Given the description of an element on the screen output the (x, y) to click on. 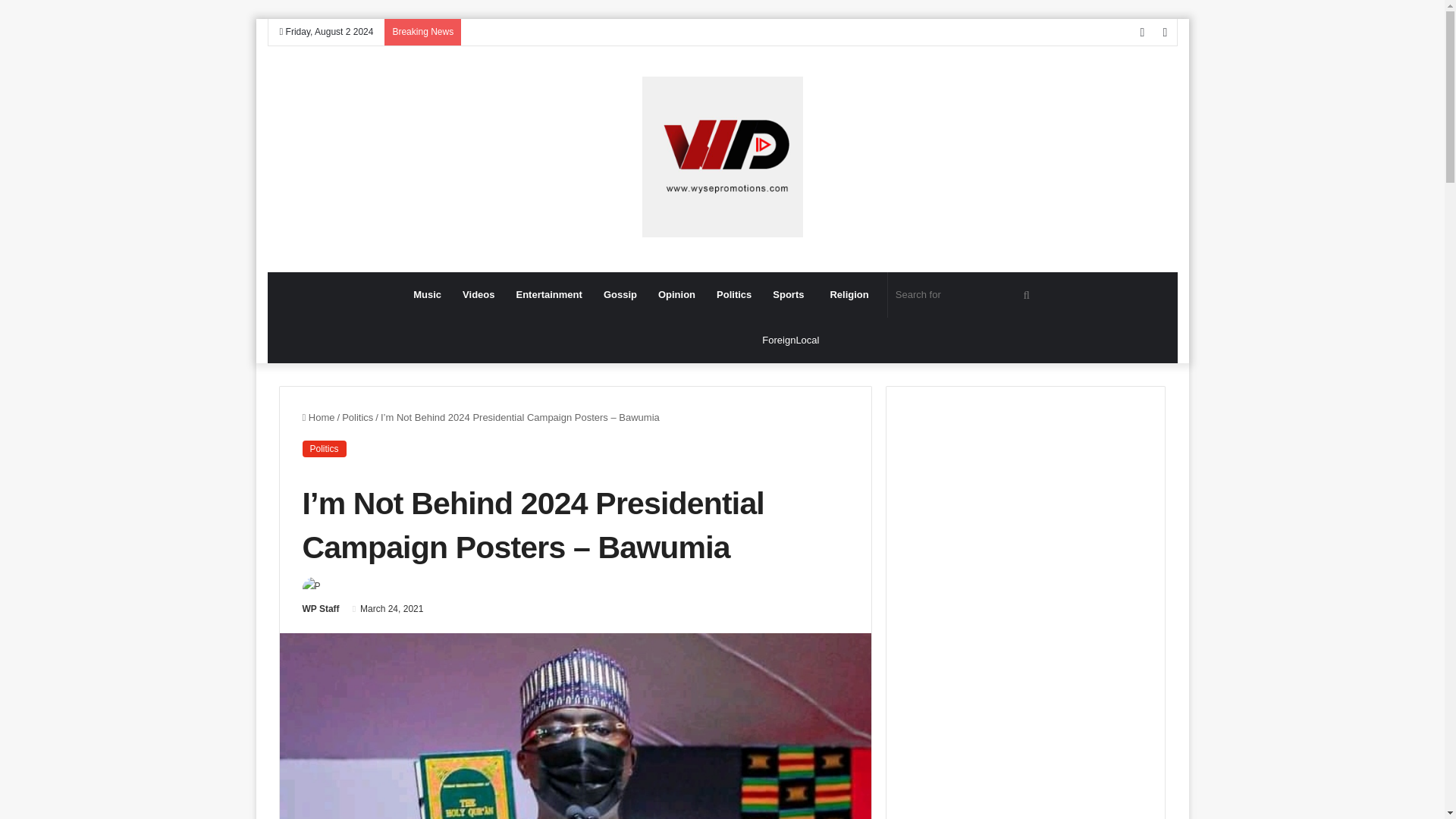
Home (317, 417)
WP Staff (320, 608)
Politics (733, 294)
Gossip (619, 294)
Religion (848, 294)
Videos (478, 294)
Politics (357, 417)
Music (427, 294)
Sports (789, 294)
Search for (965, 294)
